Given the description of an element on the screen output the (x, y) to click on. 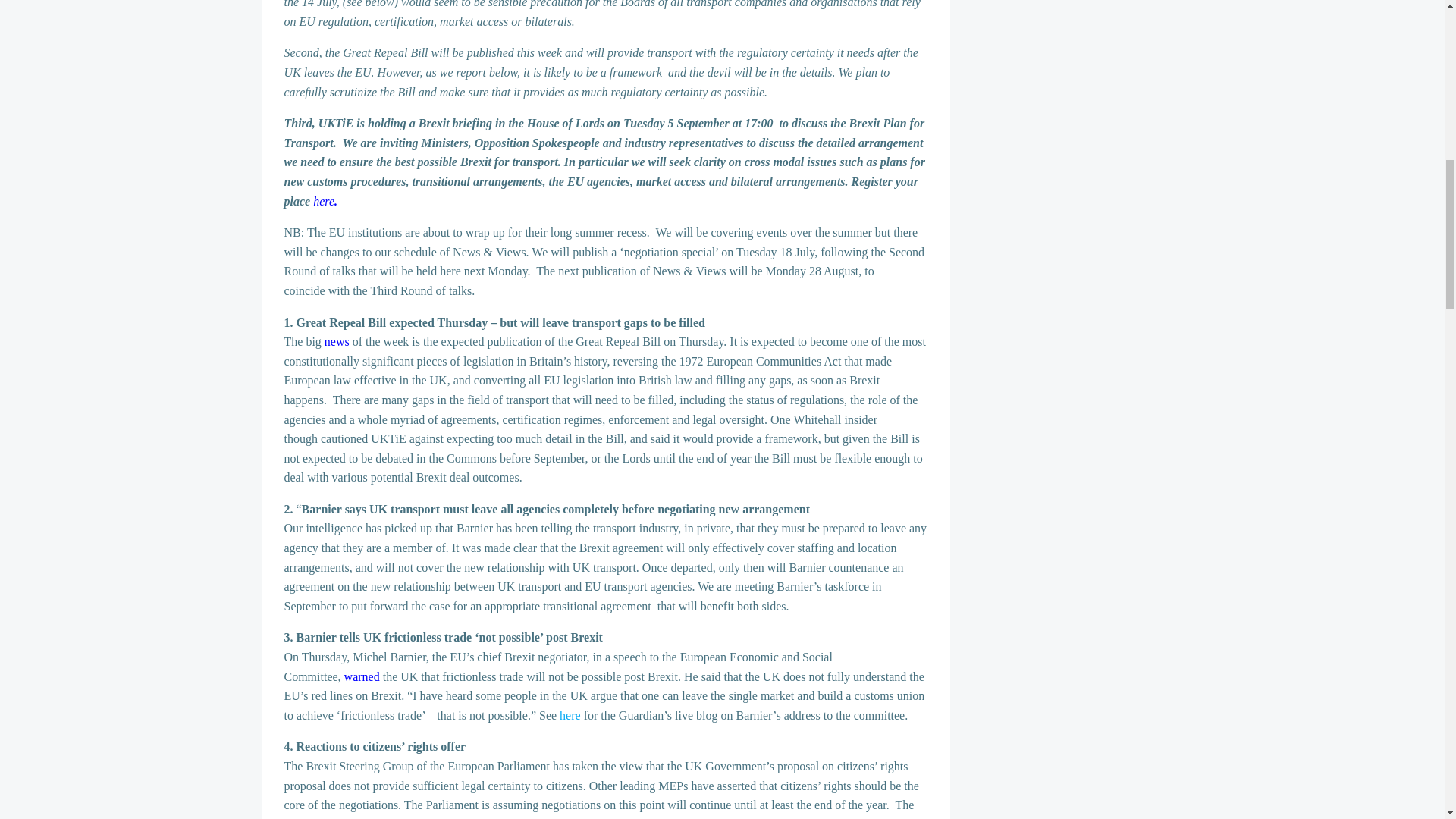
news (336, 341)
warned (361, 676)
here (323, 201)
here (569, 715)
